Given the description of an element on the screen output the (x, y) to click on. 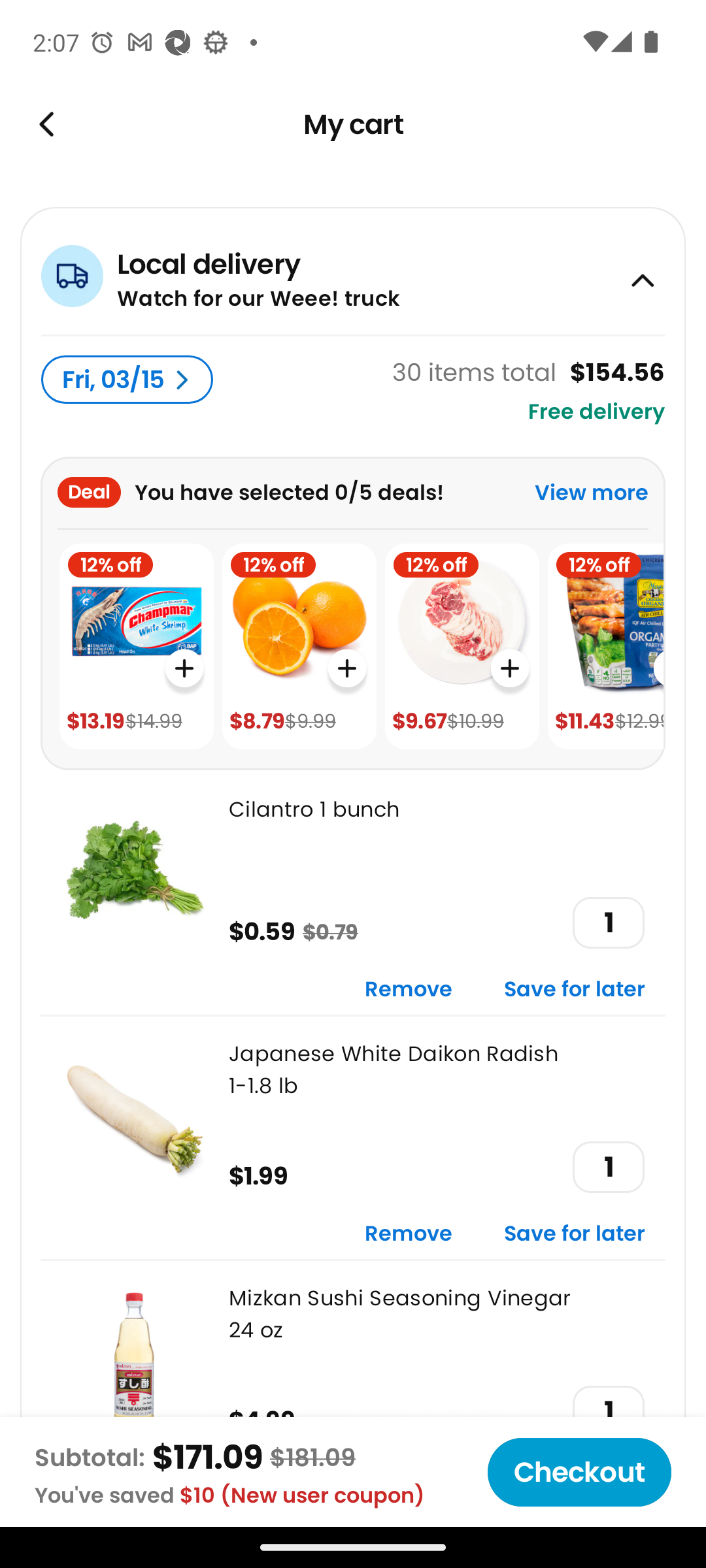
Local delivery Watch for our Weee! truck (352, 269)
Fri, 03/15 (126, 379)
12% off $13.19 $14.99 (136, 646)
12% off $8.79 $9.99 (299, 646)
12% off $9.67 $10.99 (461, 646)
12% off $11.43 $12.99 (605, 646)
1 (608, 922)
Remove (408, 989)
Save for later (574, 989)
1 (608, 1167)
Remove (408, 1234)
Save for later (574, 1234)
Checkout (579, 1471)
